Given the description of an element on the screen output the (x, y) to click on. 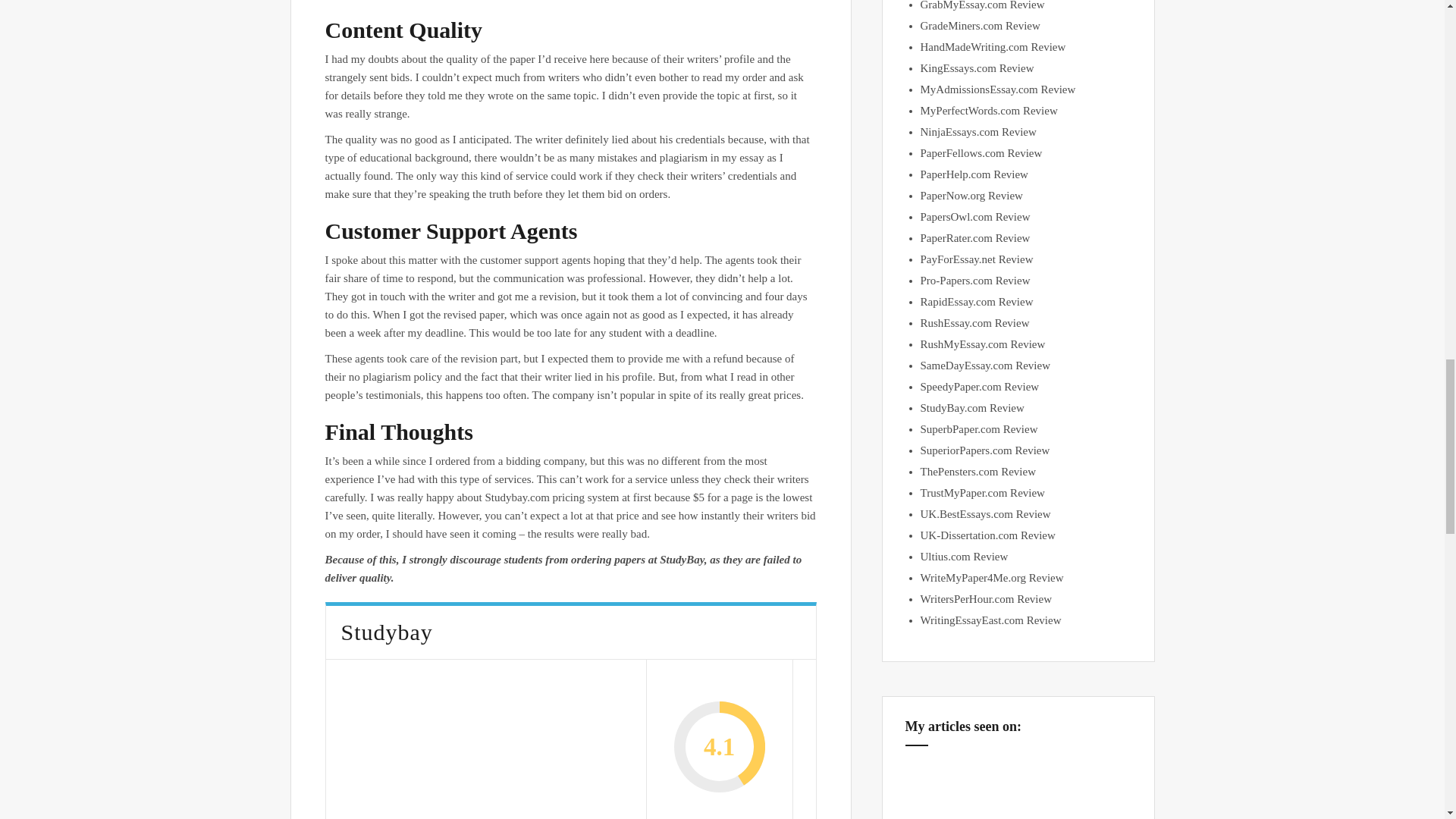
Studybay (485, 744)
